Given the description of an element on the screen output the (x, y) to click on. 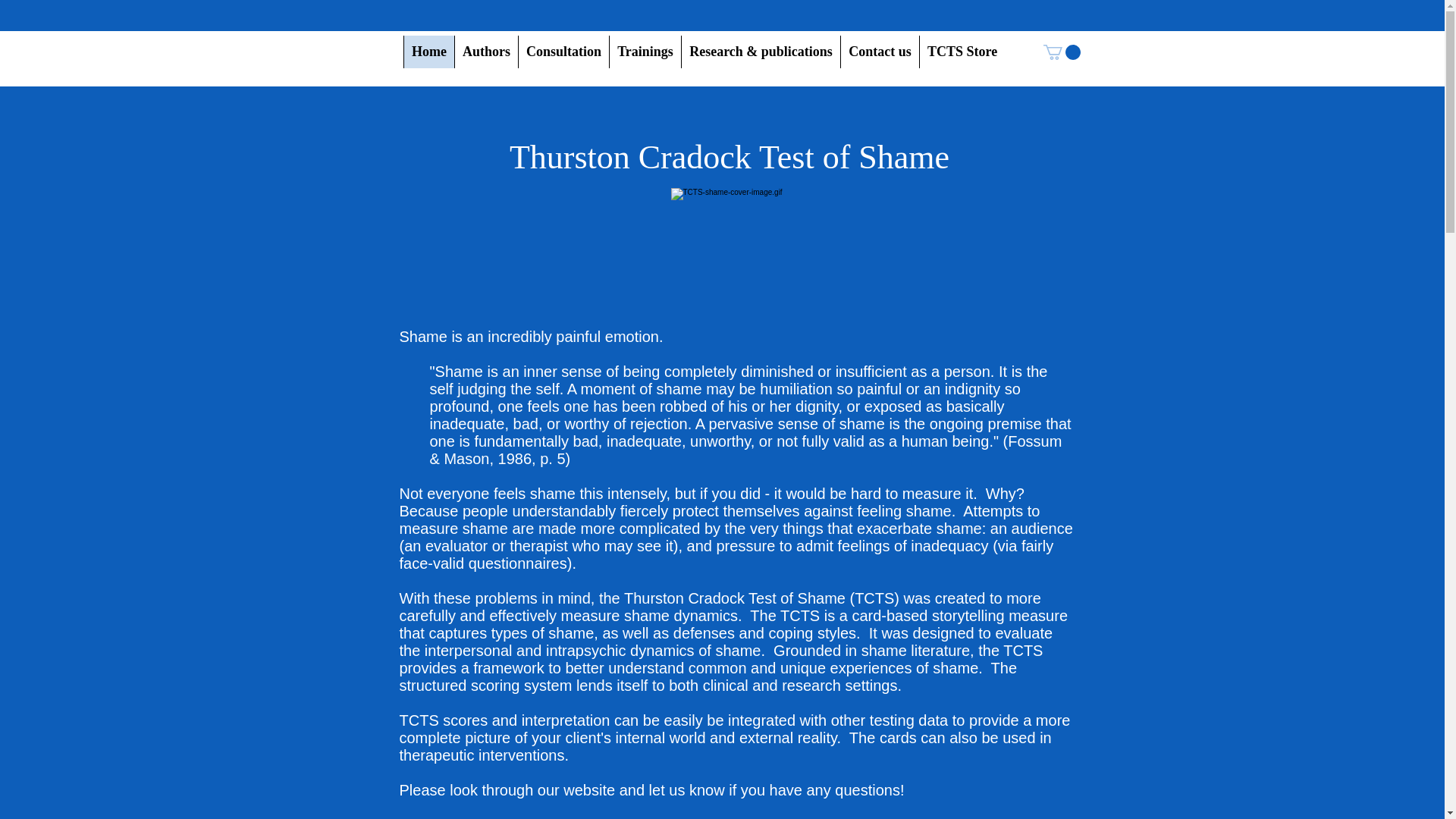
Consultation (563, 51)
Contact us (879, 51)
TCTS Store (961, 51)
Home (428, 51)
